Given the description of an element on the screen output the (x, y) to click on. 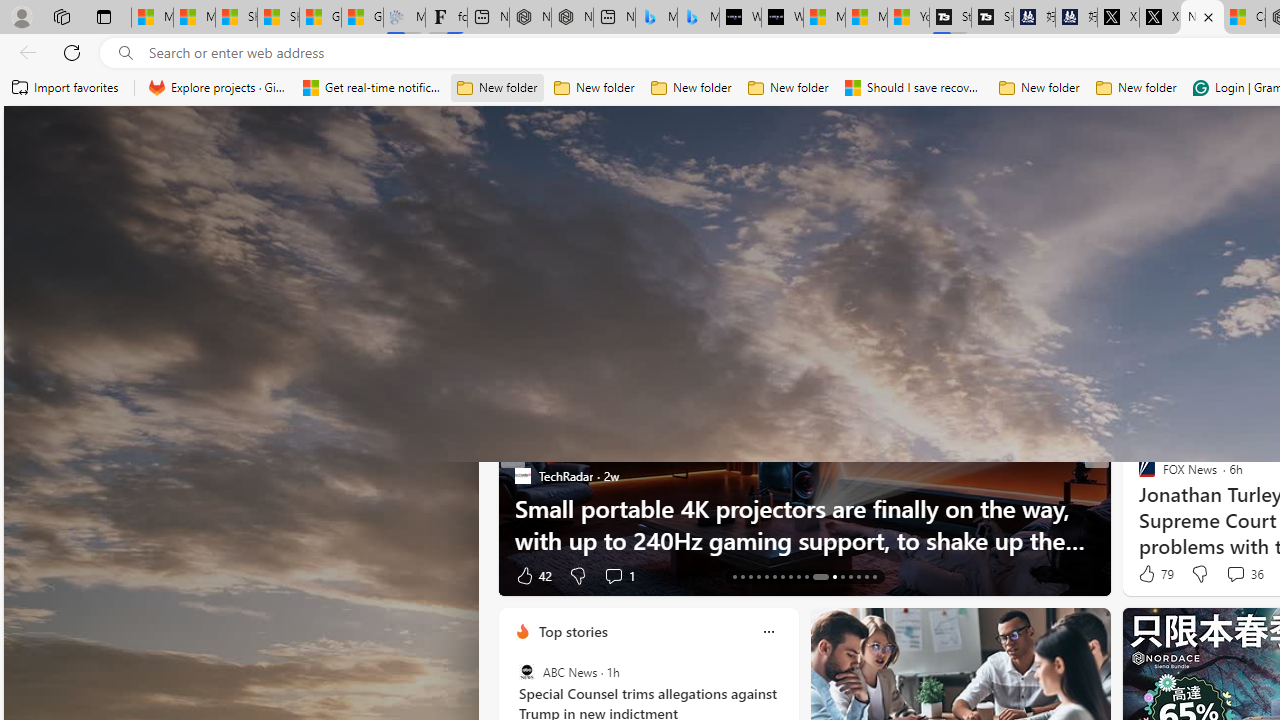
Ad Choice (479, 575)
X (1160, 17)
Money (876, 267)
Ad (1142, 575)
Class: icon-img (768, 632)
AutomationID: tab-15 (750, 576)
View comments 312 Comment (11, 575)
Search (917, 138)
Personal Profile (21, 16)
Live Science (1138, 475)
AutomationID: tab-18 (774, 576)
AutomationID: waffle (47, 138)
